Given the description of an element on the screen output the (x, y) to click on. 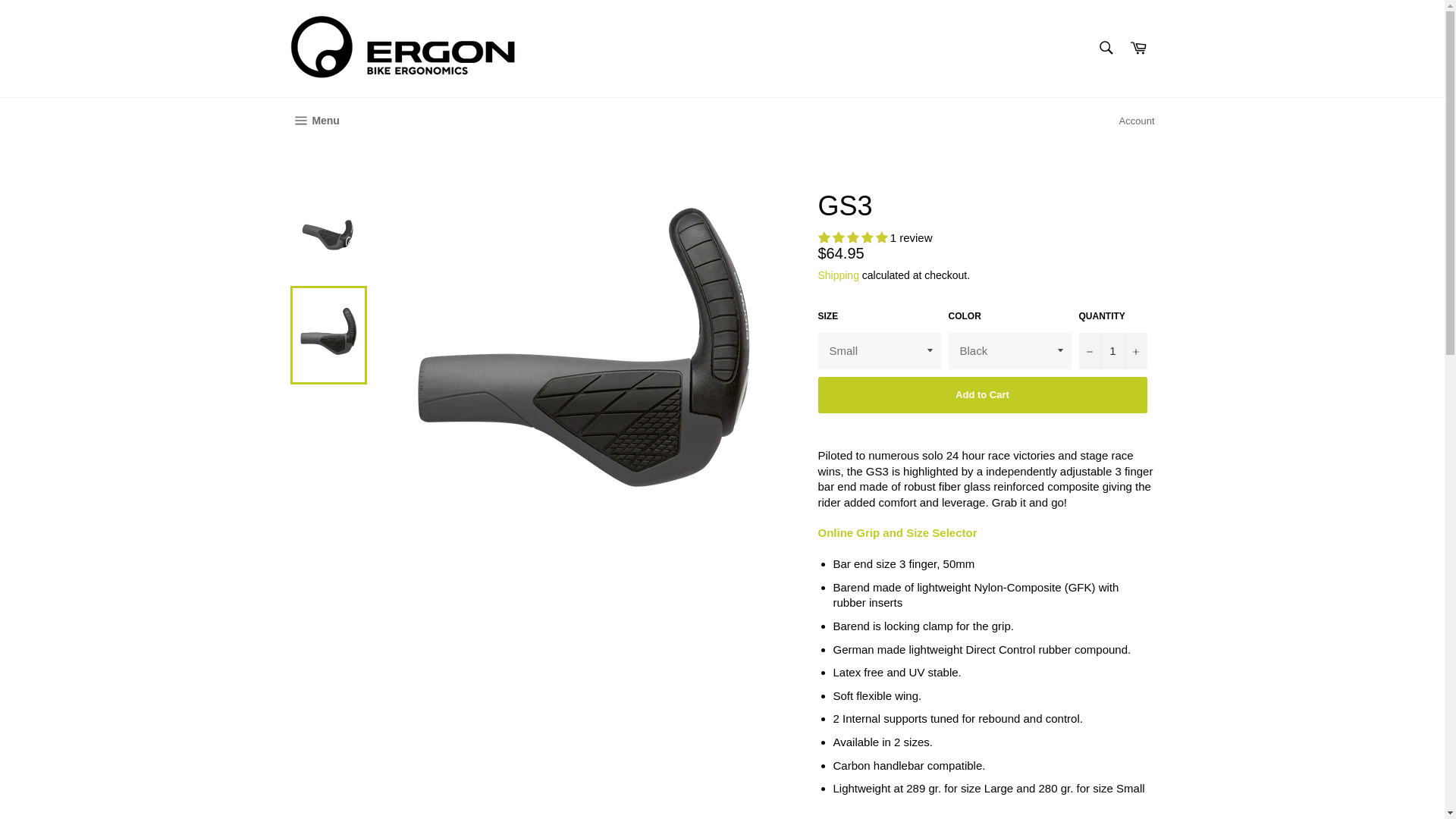
Search (1104, 47)
Cart (1138, 48)
1 (1112, 350)
